Given the description of an element on the screen output the (x, y) to click on. 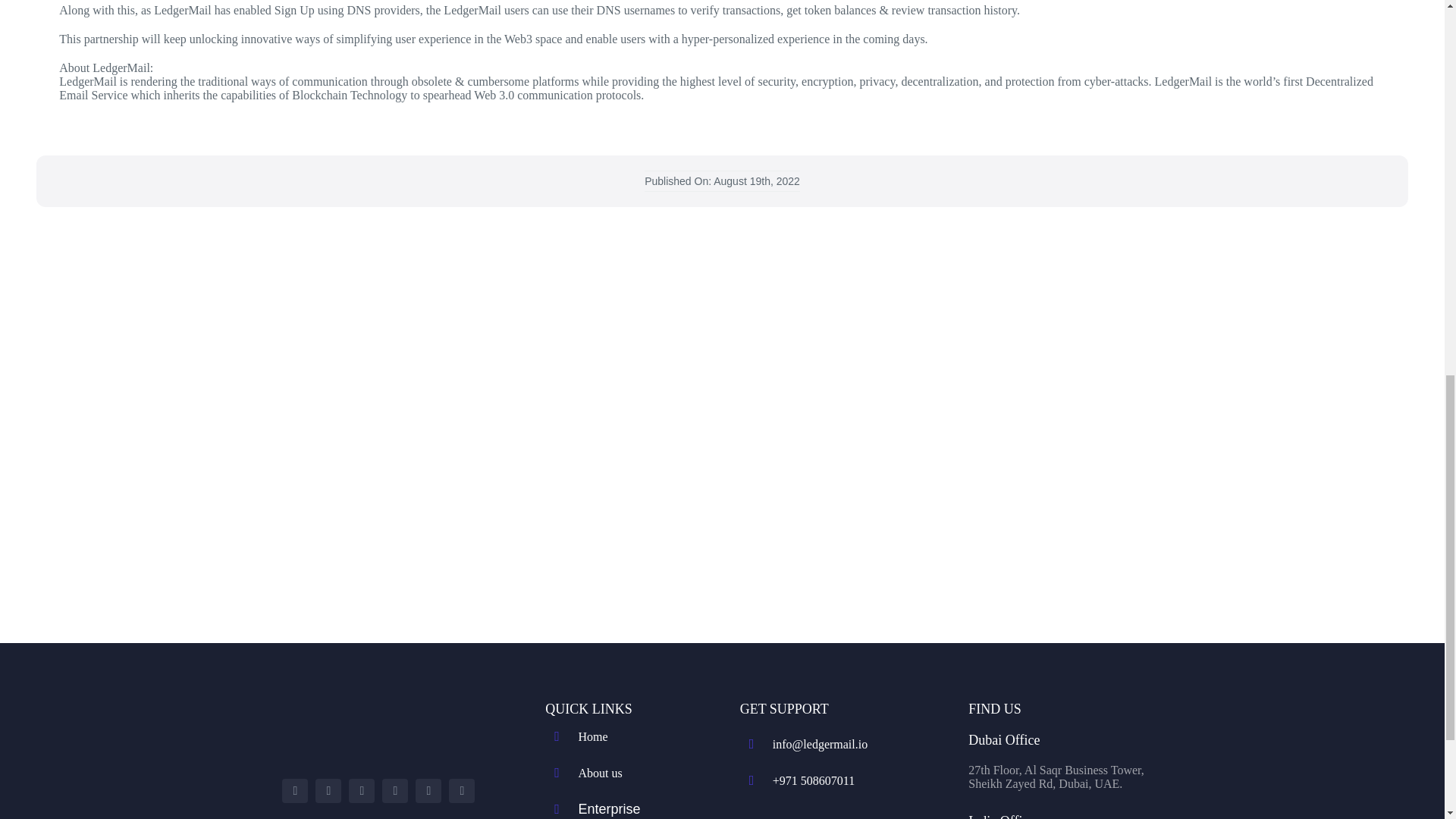
Instagram (394, 790)
LinkedIn (427, 790)
YouTube (361, 790)
Twitter (327, 790)
Facebook (294, 790)
Telegram (461, 790)
